Given the description of an element on the screen output the (x, y) to click on. 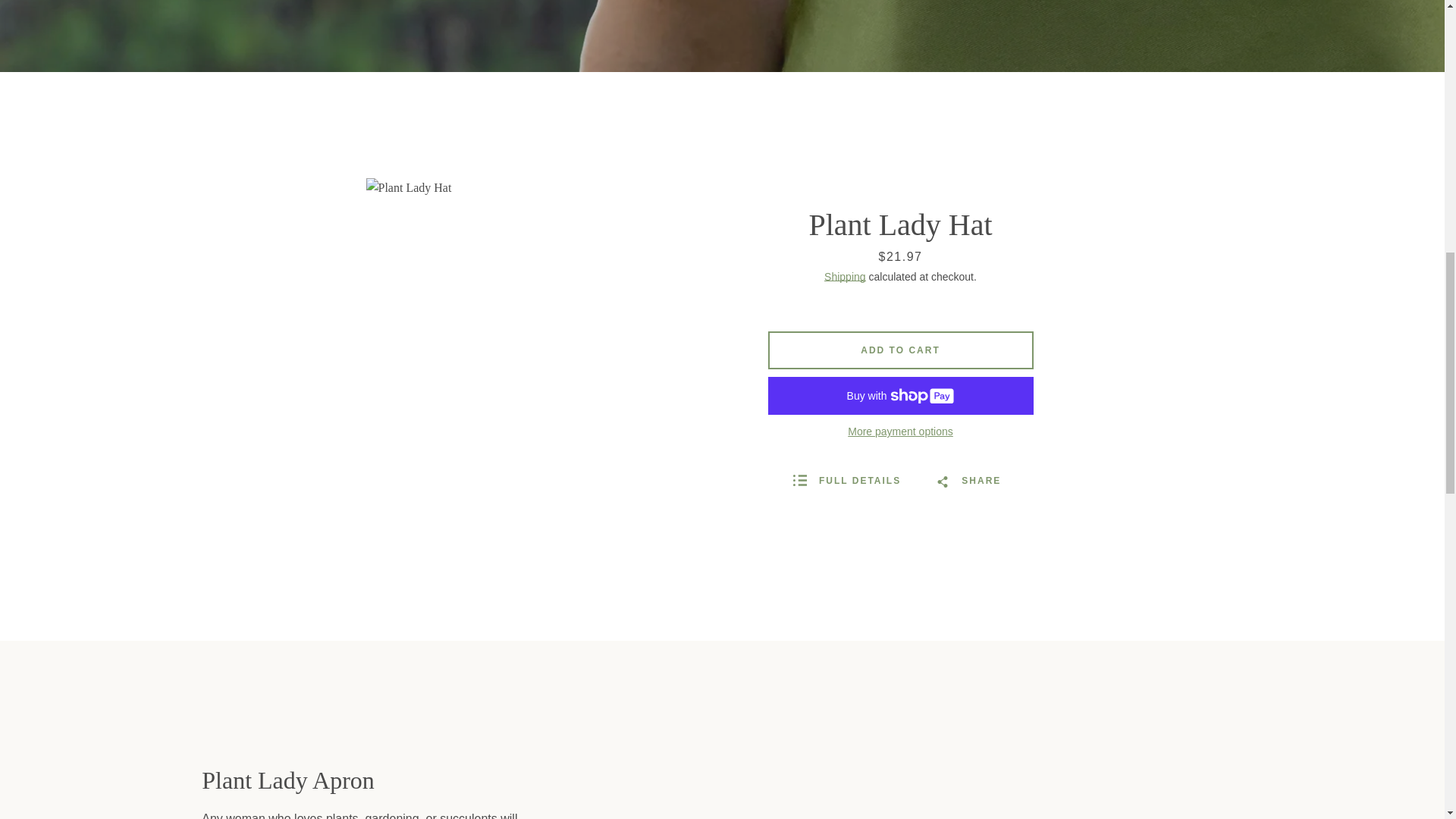
More payment options (900, 432)
FULL DETAILS (847, 480)
ADD TO CART (899, 350)
SHARE (968, 480)
Shipping (845, 276)
